Given the description of an element on the screen output the (x, y) to click on. 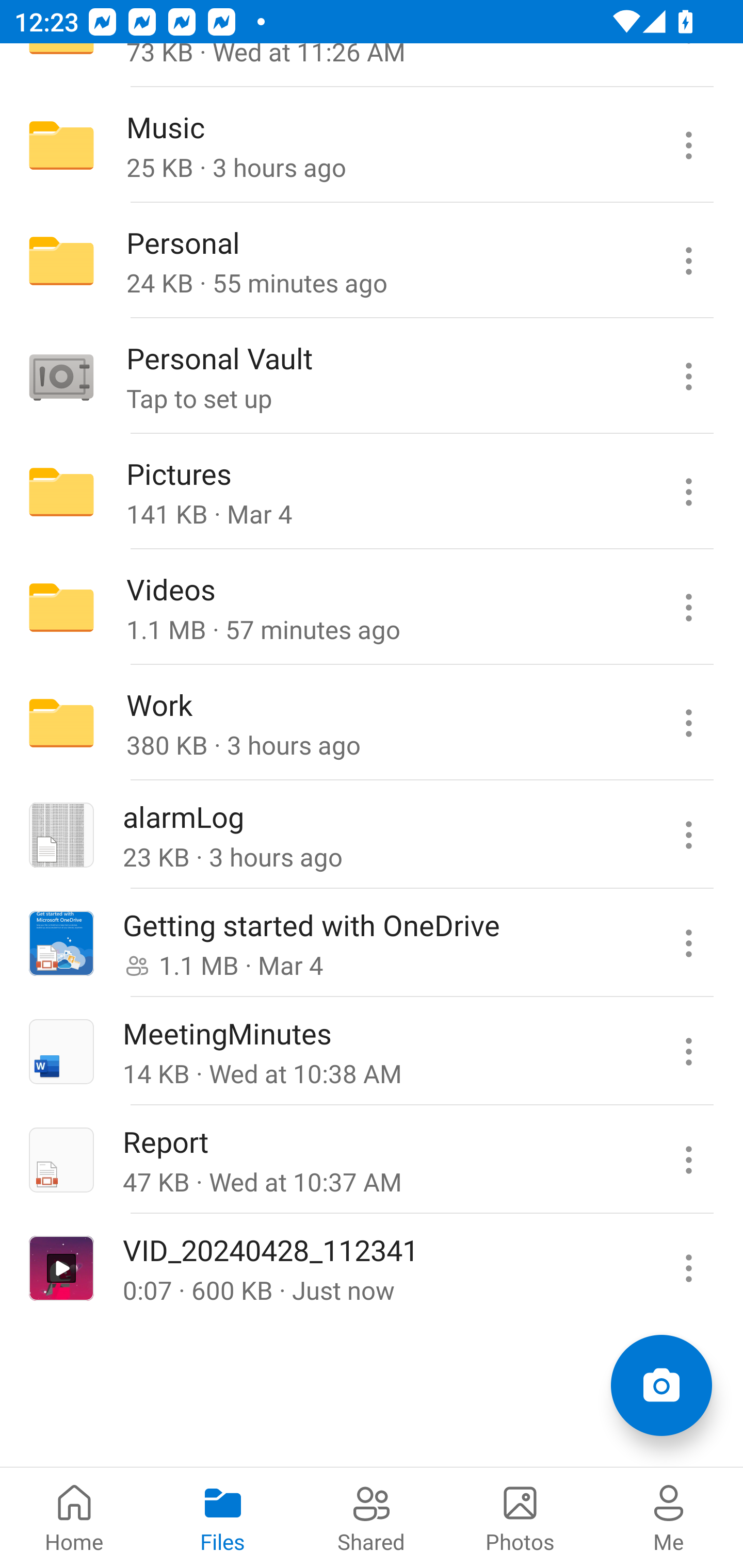
Folder Music 25 KB · 3 hours ago Music commands (371, 145)
Music commands (688, 145)
Personal commands (688, 260)
Personal Vault commands (688, 376)
Folder Pictures 141 KB · Mar 4 Pictures commands (371, 492)
Pictures commands (688, 492)
Videos commands (688, 607)
Folder Work 380 KB · 3 hours ago Work commands (371, 722)
Work commands (688, 722)
alarmLog commands (688, 834)
Getting started with OneDrive commands (688, 943)
MeetingMinutes commands (688, 1051)
Report commands (688, 1159)
VID_20240428_112341 commands (688, 1267)
Add items Scan (660, 1385)
Home pivot Home (74, 1517)
Shared pivot Shared (371, 1517)
Photos pivot Photos (519, 1517)
Me pivot Me (668, 1517)
